Given the description of an element on the screen output the (x, y) to click on. 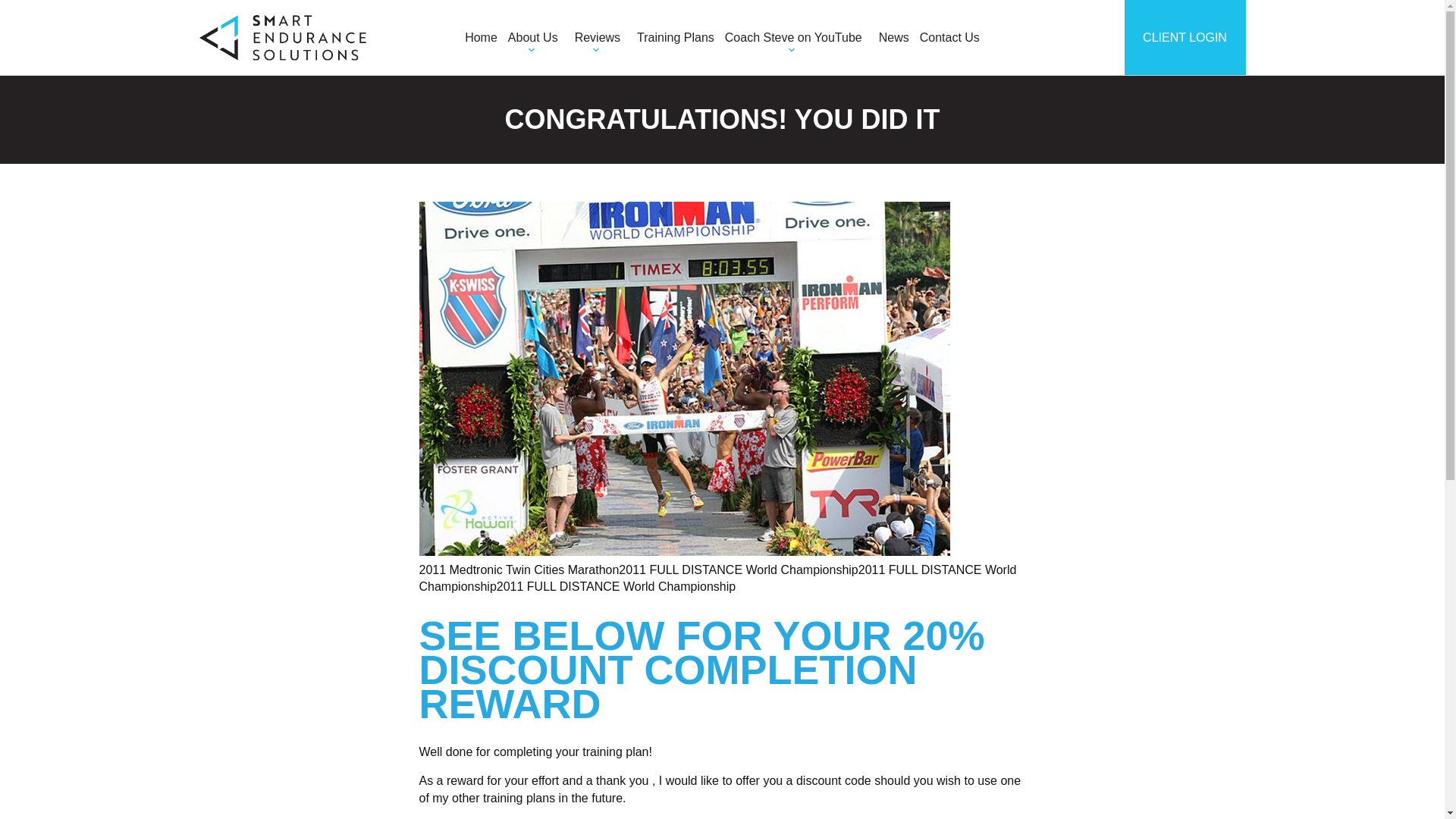
Contact Us (949, 38)
CLIENT LOGIN (1184, 37)
SMart Endurance Solutions (721, 26)
Coach Steve on YouTube (796, 38)
Training Plans (675, 38)
